Given the description of an element on the screen output the (x, y) to click on. 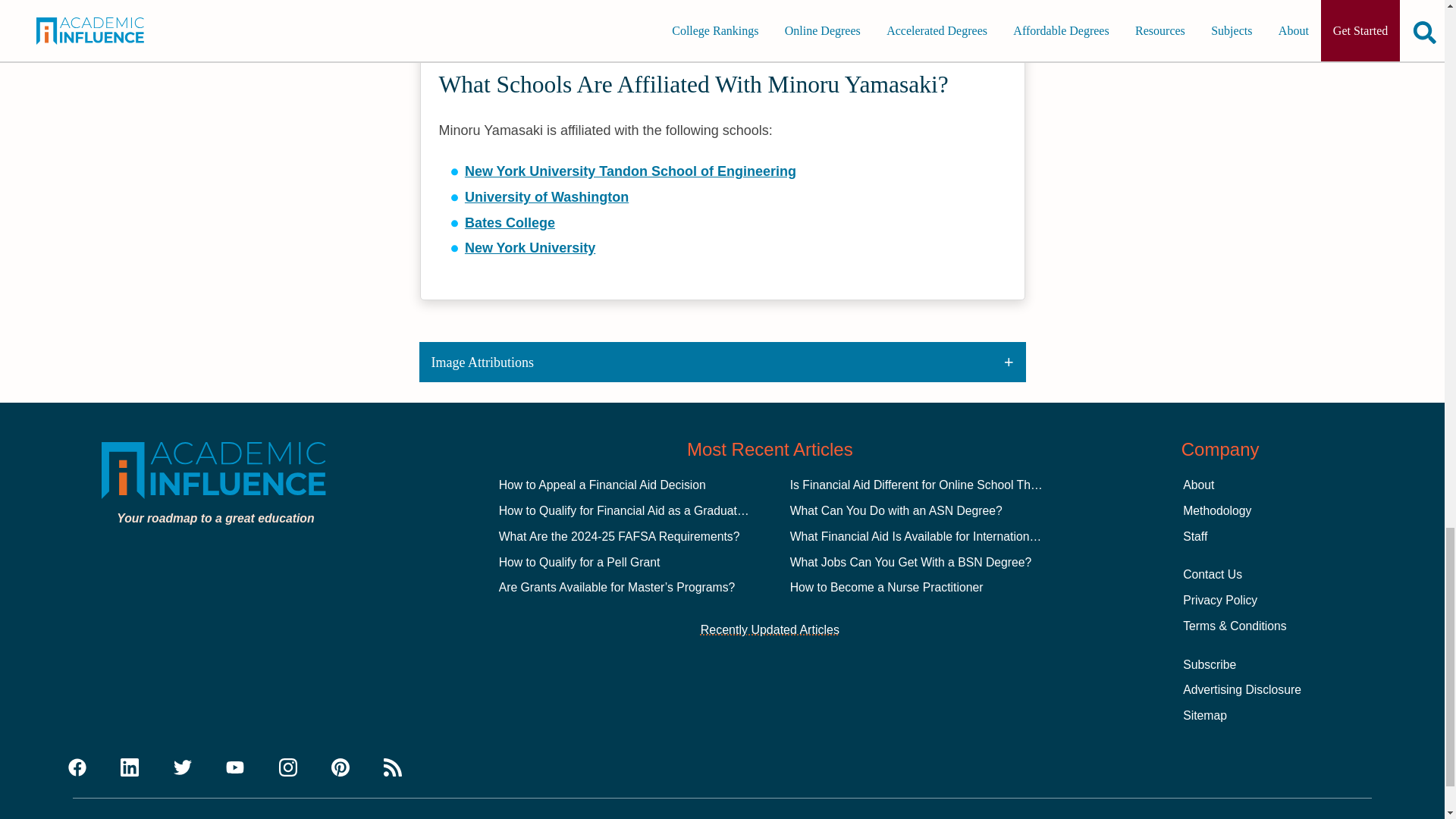
What Can You Do with an ASN Degree? (896, 510)
Methodology (1216, 510)
How to Appeal a Financial Aid Decision (602, 484)
How to Become a Nurse Practitioner (887, 586)
Contact Us (1211, 574)
Bates College (509, 222)
How to Qualify for Financial Aid as a Graduate Student (644, 510)
How to Qualify for a Pell Grant (580, 562)
Is Financial Aid Different for Online School Than In-Person? (947, 484)
New York University (529, 247)
New York University Tandon School of Engineering (630, 171)
Privacy Policy (1219, 599)
Staff (1194, 535)
University of Washington (546, 196)
About (1198, 484)
